Given the description of an element on the screen output the (x, y) to click on. 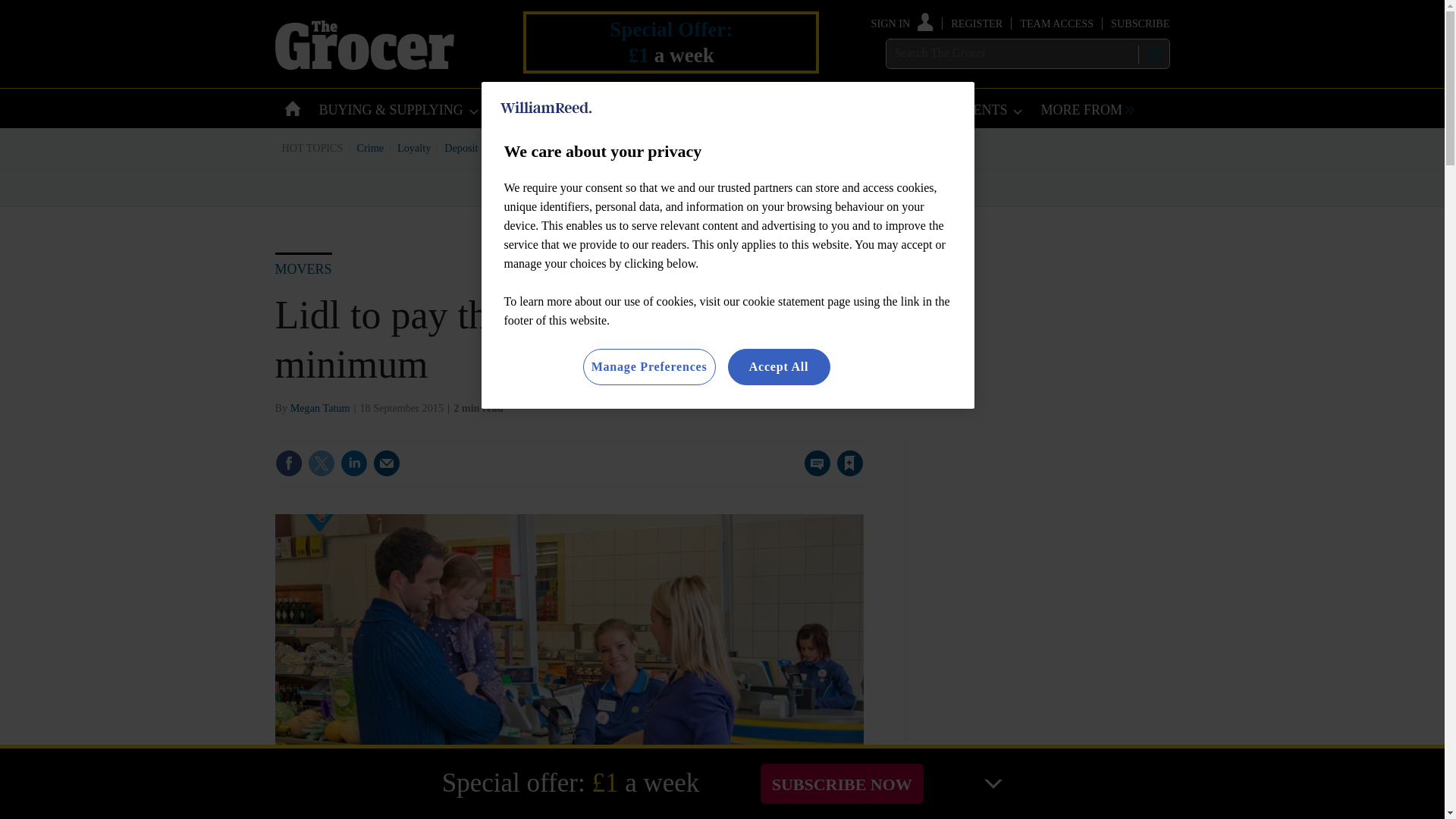
Site name (363, 65)
Email this article (386, 462)
Deposit Return Schemes (497, 147)
No comments (812, 472)
SEARCH (1153, 53)
KVI price tracker (602, 147)
SIGN IN (902, 23)
SUBSCRIBE NOW (841, 783)
SUBSCRIBE (1139, 23)
Crime (370, 147)
Share this on Linked in (352, 462)
REGISTER (976, 23)
TEAM ACCESS (1056, 23)
Loyalty (414, 147)
Vaping (774, 147)
